Given the description of an element on the screen output the (x, y) to click on. 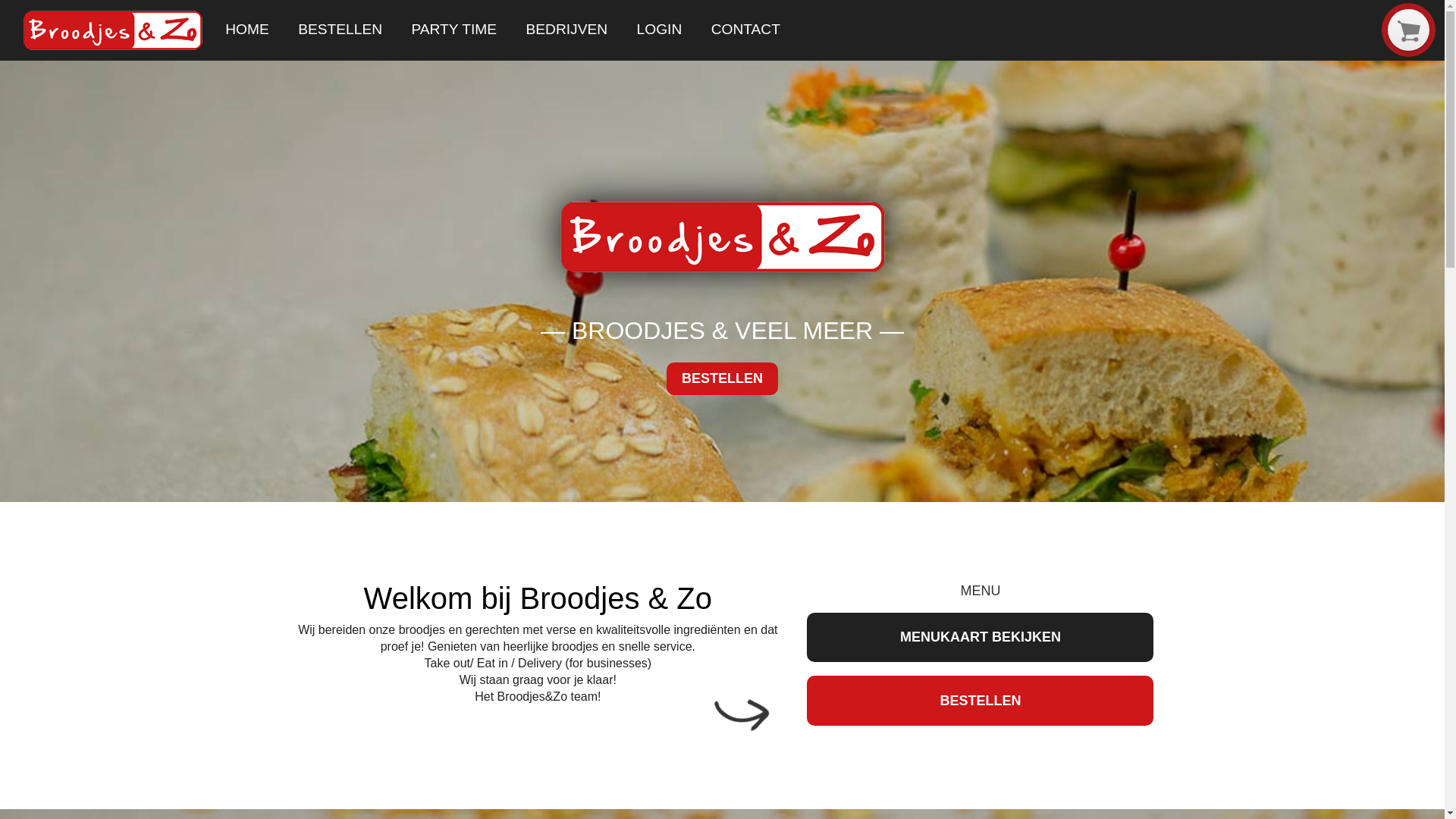
BEDRIJVEN Element type: text (566, 29)
BESTELLEN Element type: text (722, 378)
PARTY TIME Element type: text (453, 29)
HOME Element type: text (246, 29)
BESTELLEN Element type: text (339, 29)
LOGIN Element type: text (658, 29)
MENUKAART BEKIJKEN Element type: text (979, 637)
BESTELLEN Element type: text (979, 699)
CONTACT Element type: text (745, 29)
